Given the description of an element on the screen output the (x, y) to click on. 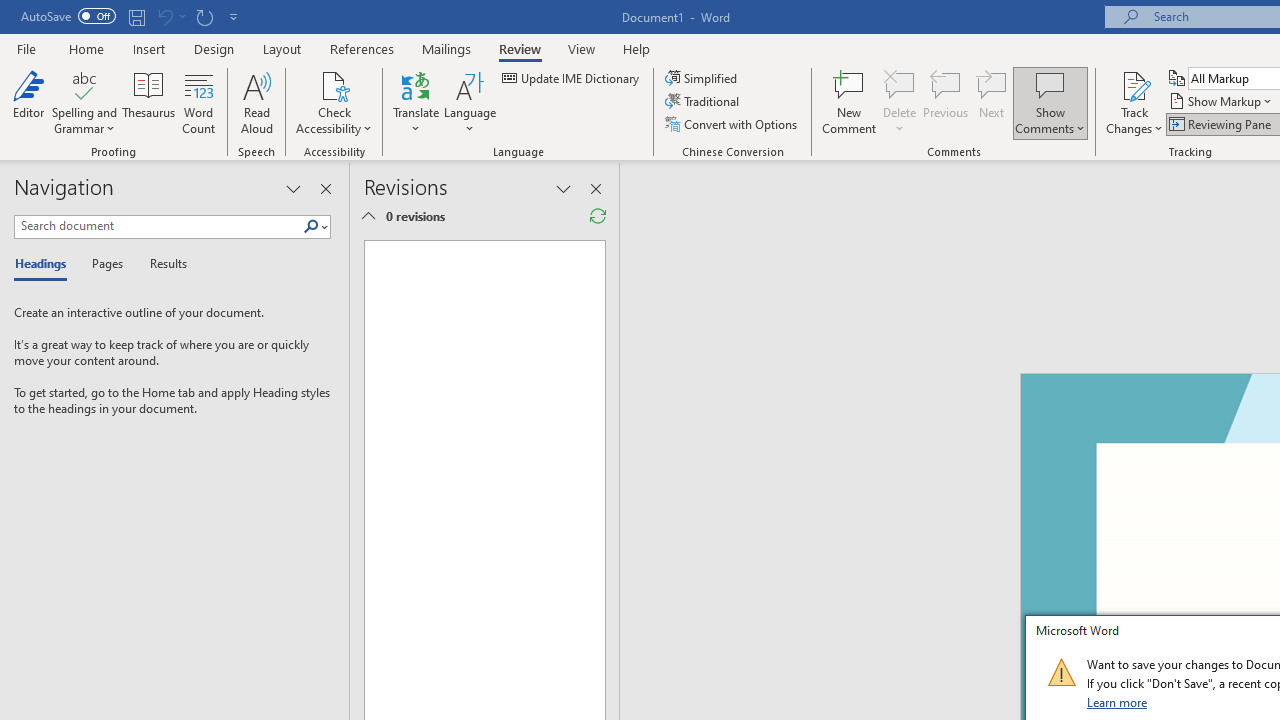
Update IME Dictionary... (572, 78)
Translate (415, 102)
Delete (900, 84)
Track Changes (1134, 102)
Customize Quick Access Toolbar (234, 15)
Can't Undo (164, 15)
Track Changes (1134, 84)
Traditional (703, 101)
Search (311, 227)
Convert with Options... (732, 124)
Search (315, 227)
Results (161, 264)
Close pane (325, 188)
Show Markup (1222, 101)
Show Comments (1050, 84)
